Given the description of an element on the screen output the (x, y) to click on. 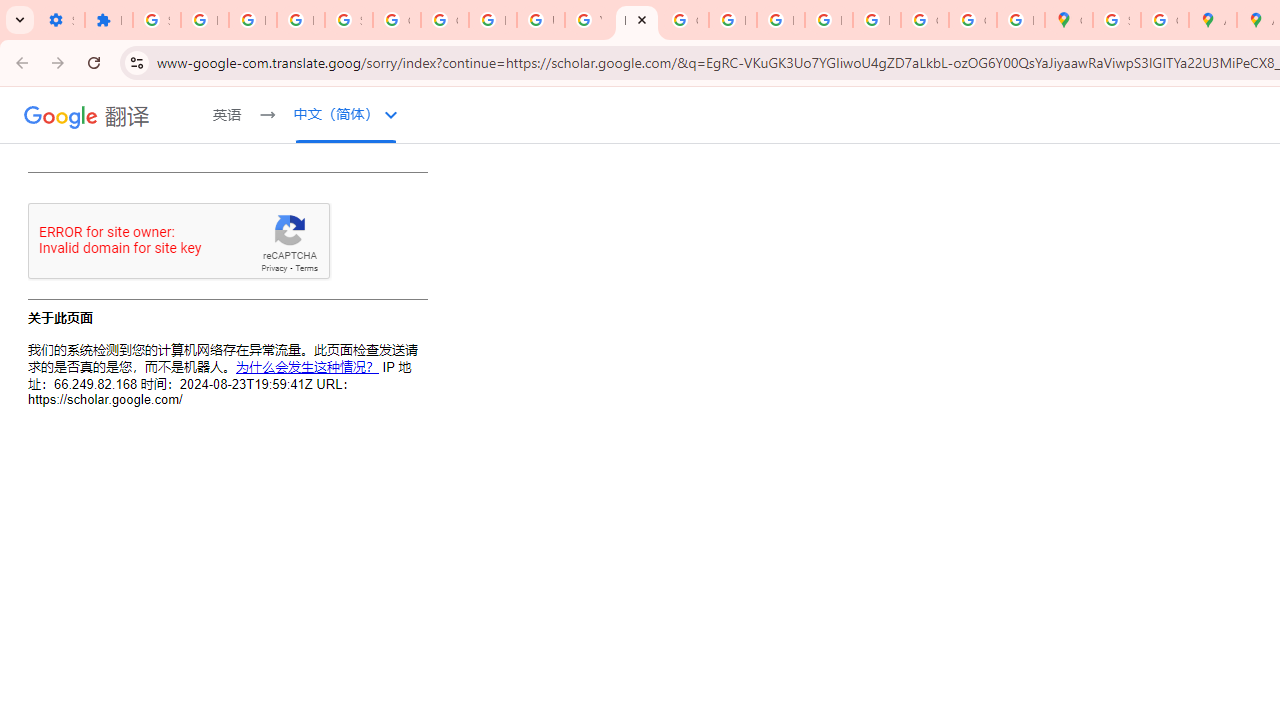
YouTube (588, 20)
Sign in - Google Accounts (1116, 20)
Sign in - Google Accounts (156, 20)
Settings - On startup (60, 20)
Google Maps (1068, 20)
